Given the description of an element on the screen output the (x, y) to click on. 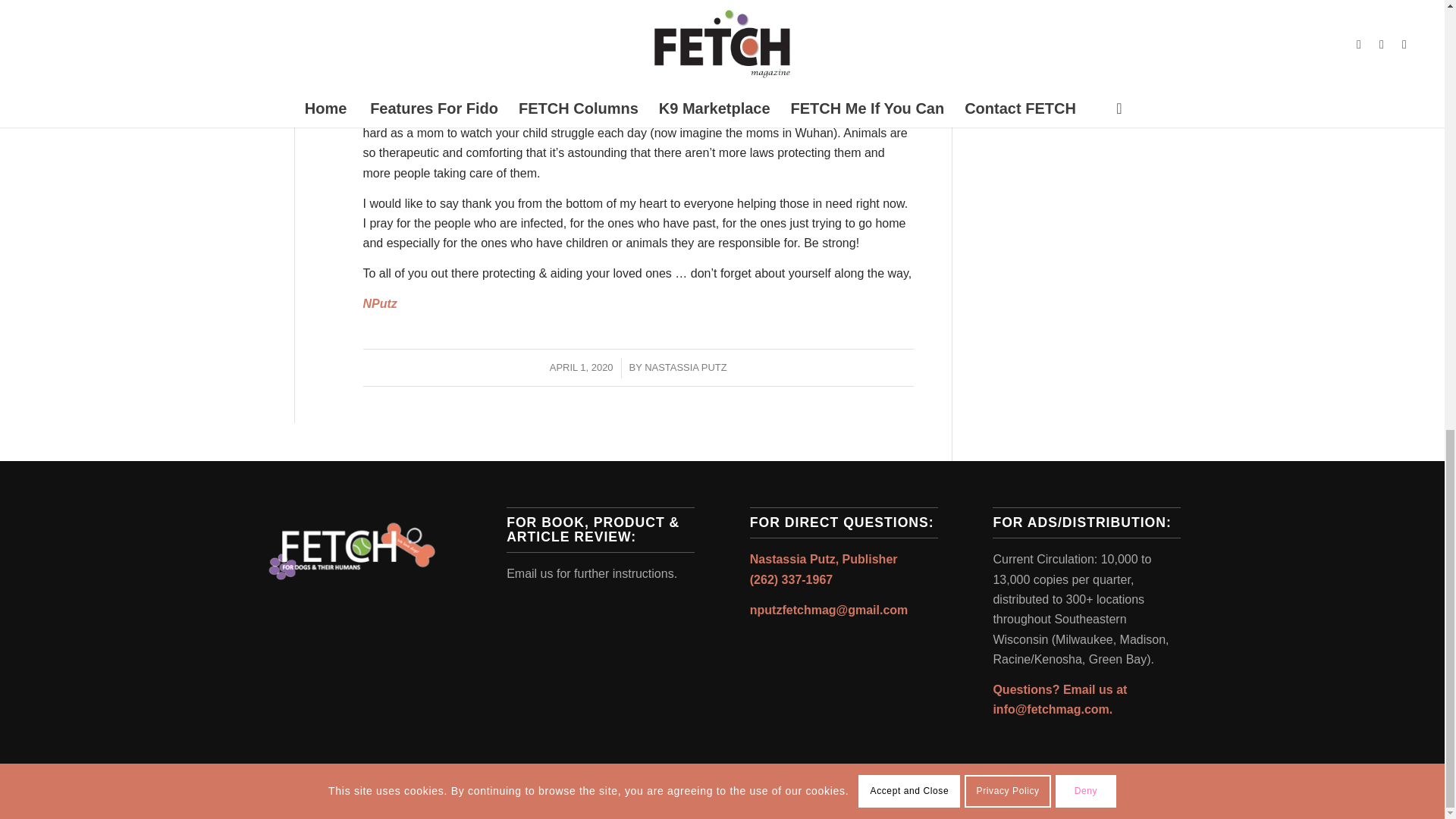
Facebook (1124, 793)
Posts by Nastassia Putz (685, 367)
LinkedIn (1169, 793)
NASTASSIA PUTZ (685, 367)
Milwaukee Web Design, LLC (410, 796)
X (1146, 793)
Privacy Policy (985, 795)
franklin web designer (410, 796)
